Given the description of an element on the screen output the (x, y) to click on. 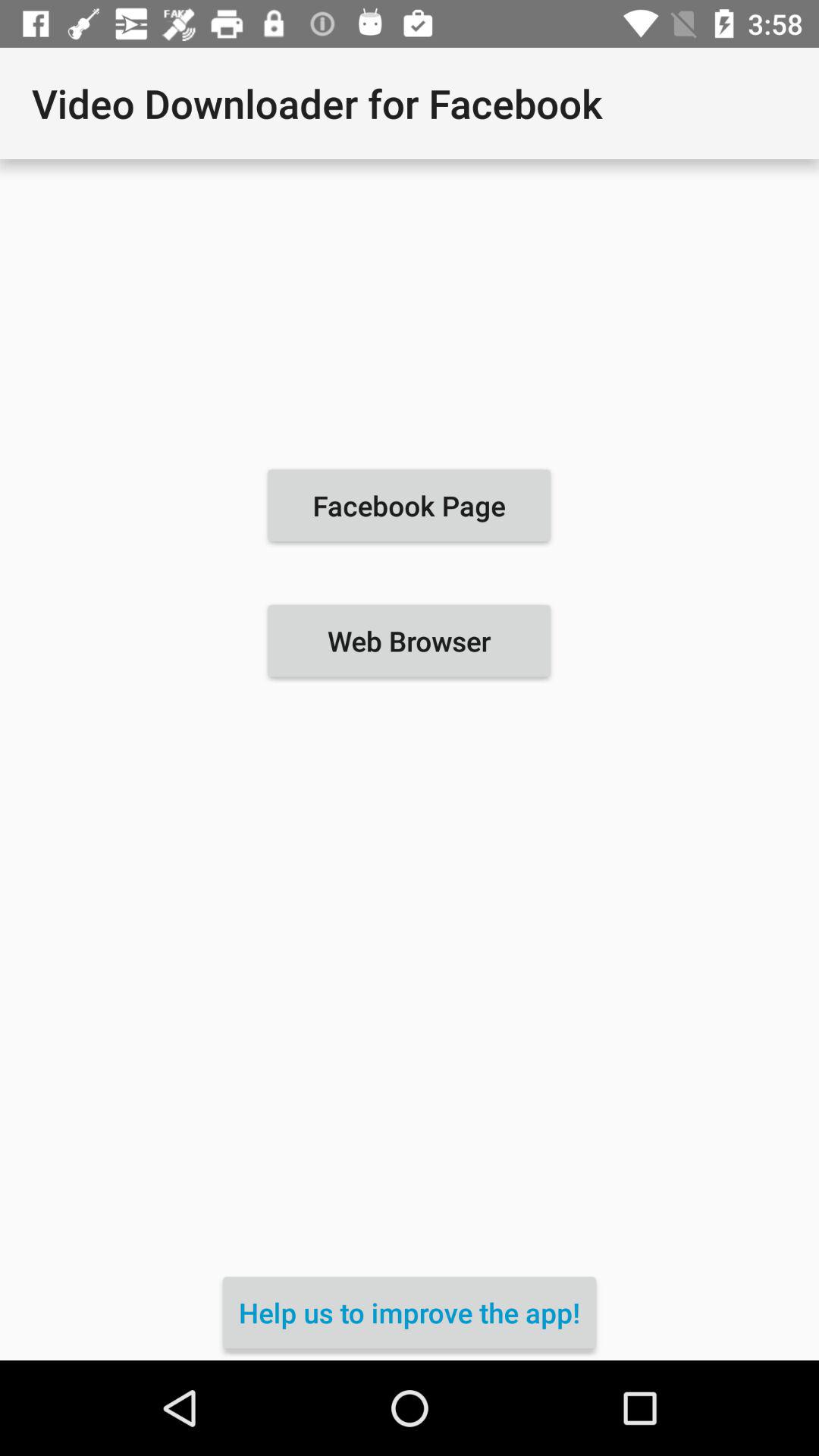
press the web browser (408, 640)
